Given the description of an element on the screen output the (x, y) to click on. 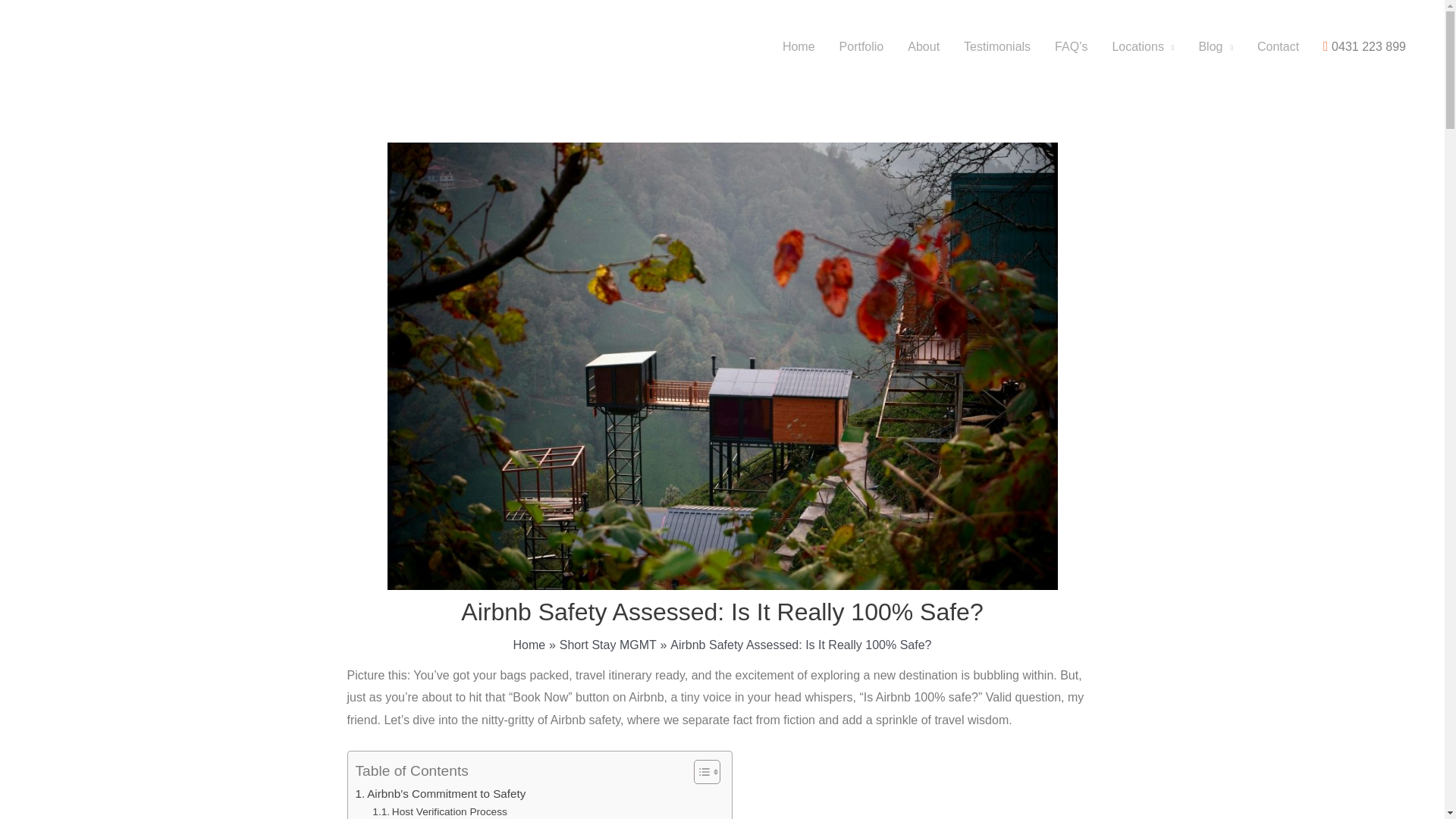
Locations (1142, 46)
Host Verification Process (439, 811)
About (923, 46)
Host Verification Process (439, 811)
Portfolio (861, 46)
Testimonials (997, 46)
Contact (1277, 46)
Blog (1215, 46)
Home (798, 46)
Home (529, 644)
Short Stay MGMT (607, 644)
